Given the description of an element on the screen output the (x, y) to click on. 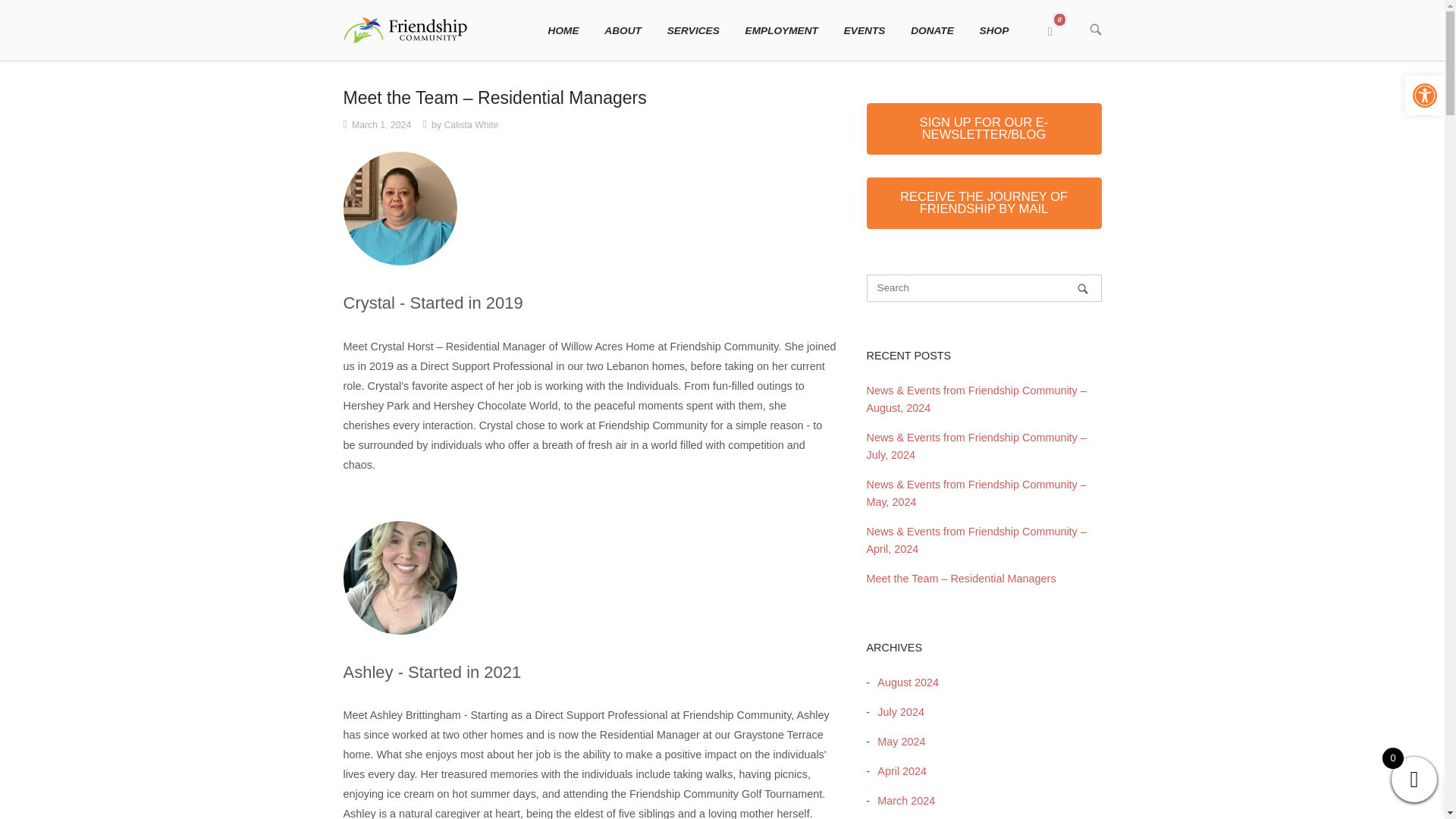
HOME (564, 30)
DONATE (932, 30)
Accessibility Tools (1424, 95)
SERVICES (693, 30)
EMPLOYMENT (781, 30)
Home (404, 29)
EVENTS (864, 30)
Crystal - Started in 2019 (399, 208)
ABOUT (622, 30)
